Given the description of an element on the screen output the (x, y) to click on. 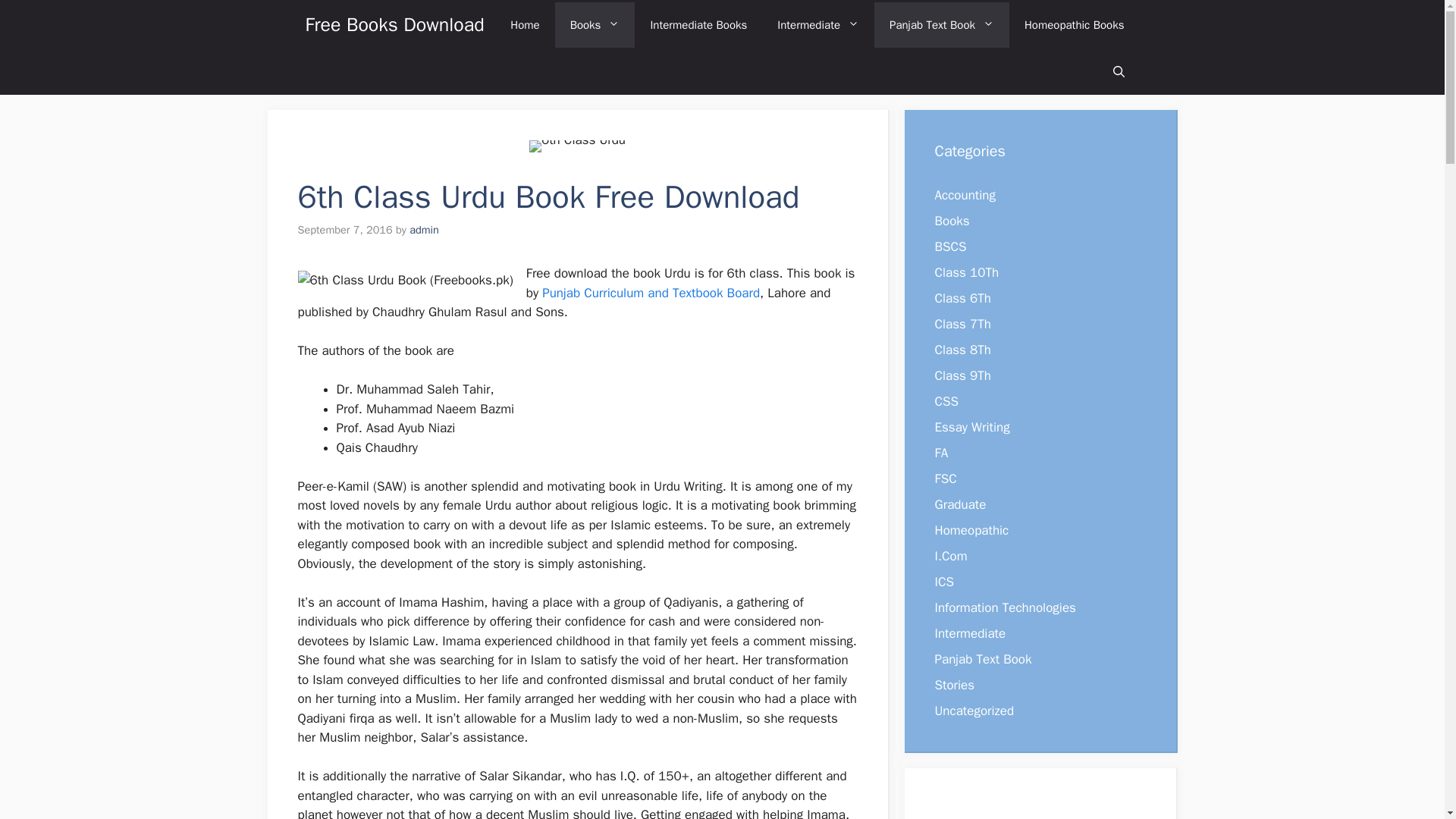
Intermediate (818, 23)
admin (424, 229)
Punjab Curriculum and Textbook Board (650, 293)
Homeopathic Books (1074, 23)
Free Books Download (393, 24)
Home (524, 23)
Intermediate Books (697, 23)
Books (594, 23)
Panjab Text Book (942, 23)
